Given the description of an element on the screen output the (x, y) to click on. 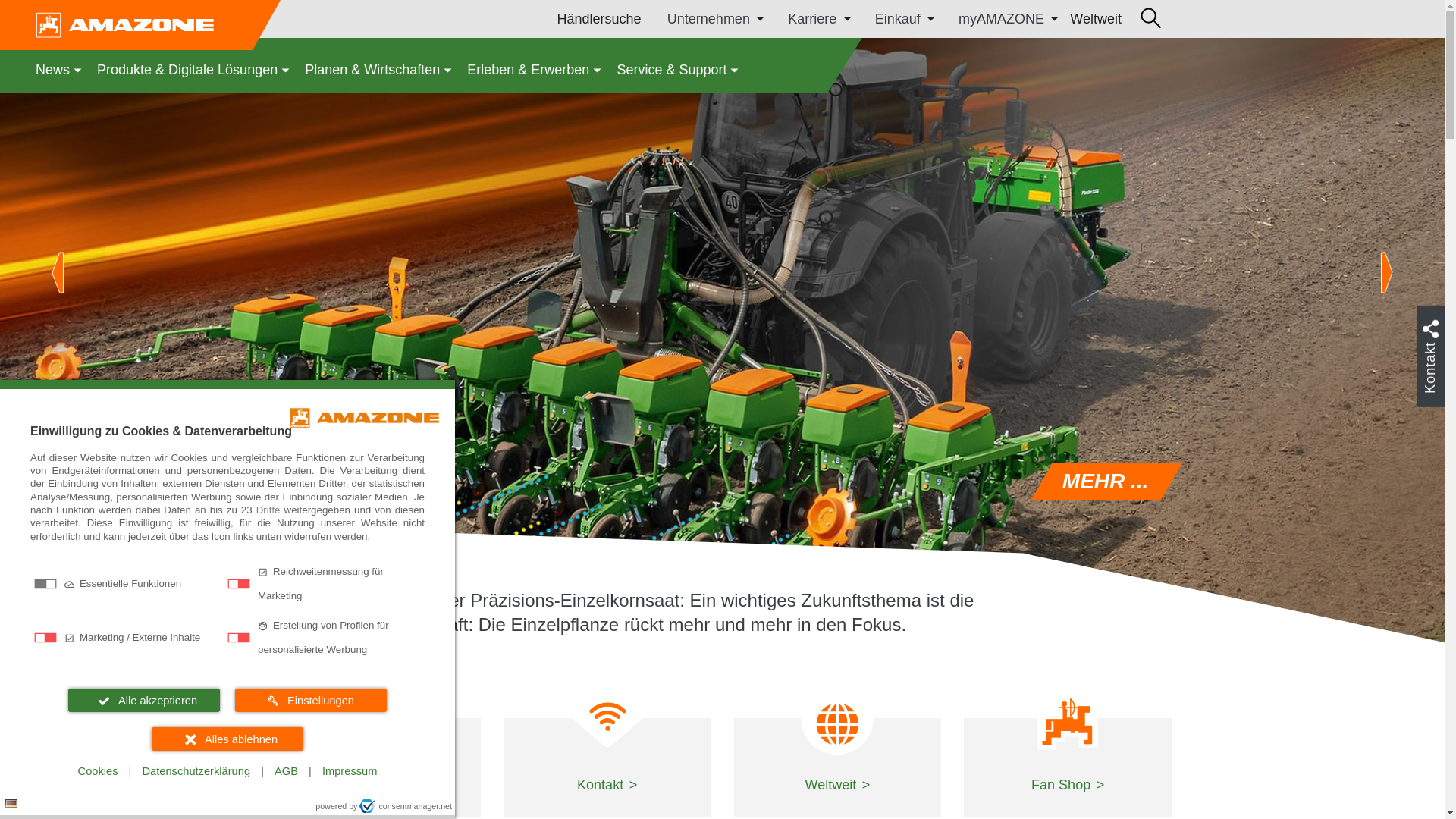
Einstellungen (310, 699)
Impressum (349, 771)
Alles ablehnen (226, 739)
Cookies (97, 771)
Zweck (227, 611)
AGB (285, 771)
Alle akzeptieren (143, 699)
consentmanager.net (405, 806)
Dritte (268, 509)
